Given the description of an element on the screen output the (x, y) to click on. 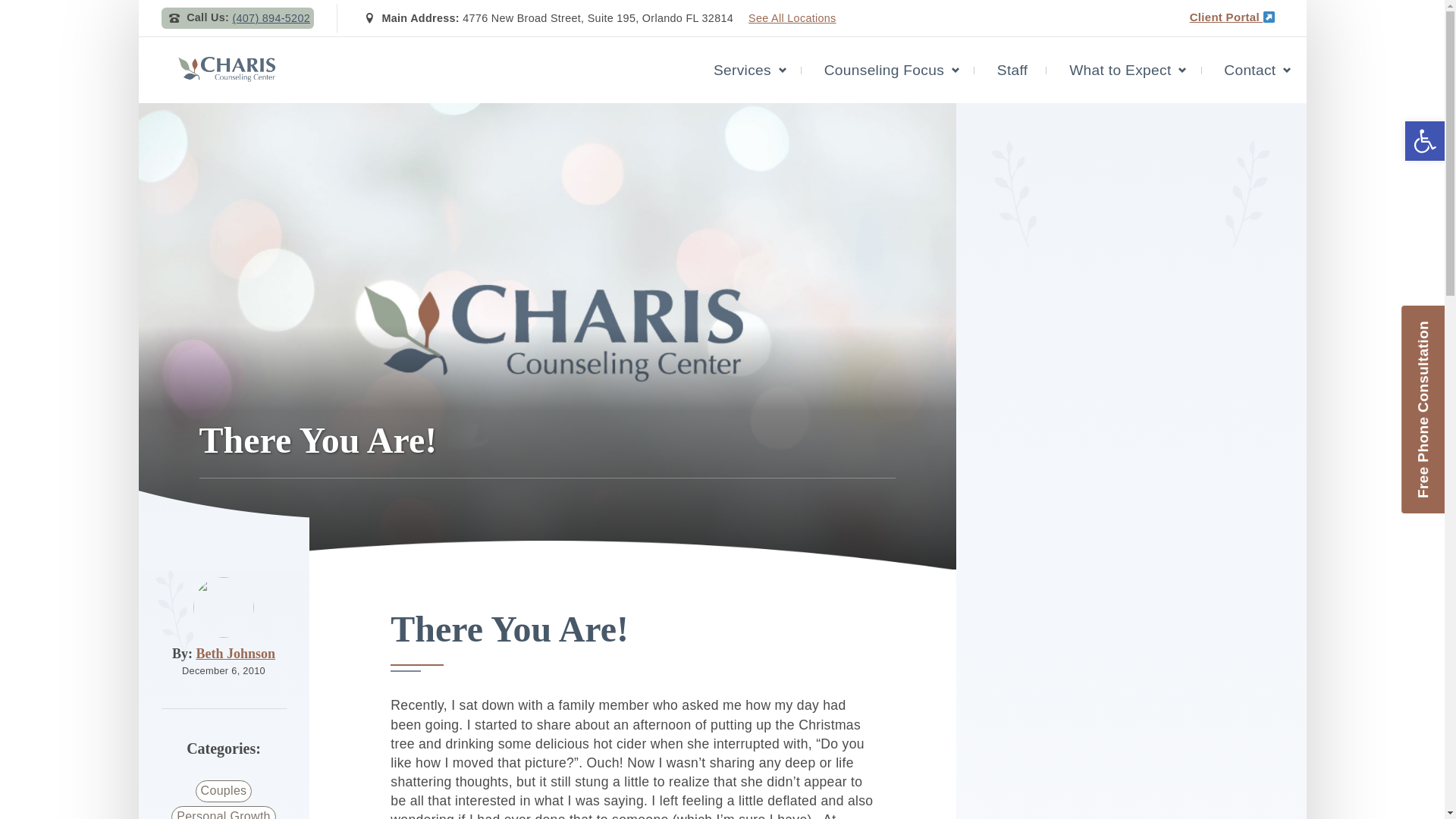
Client Portal (1232, 12)
Services (742, 66)
Counseling Focus (883, 69)
See All Locations (791, 13)
Accessibility Tools (1424, 140)
